Given the description of an element on the screen output the (x, y) to click on. 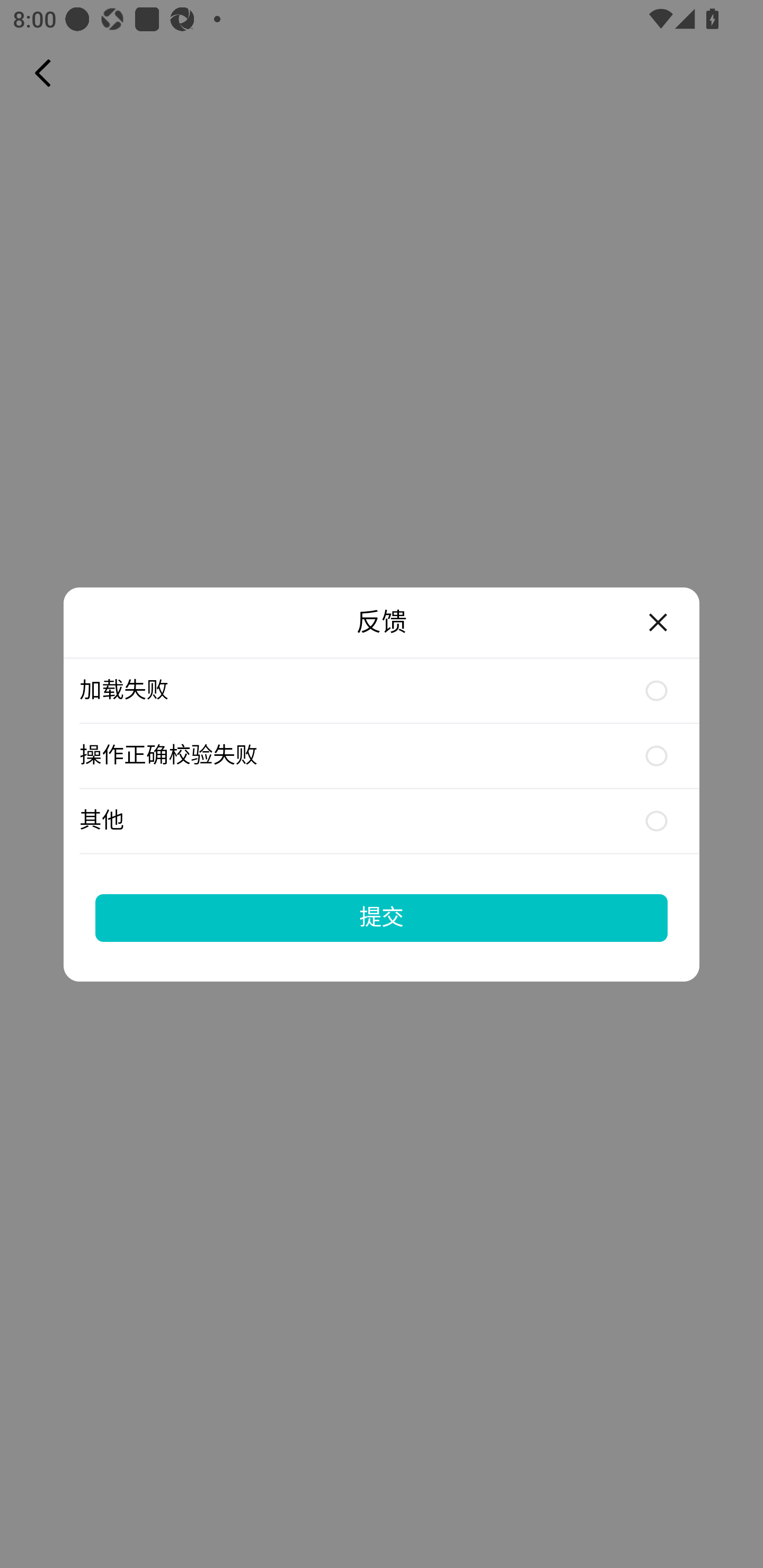
提交 (381, 917)
